Given the description of an element on the screen output the (x, y) to click on. 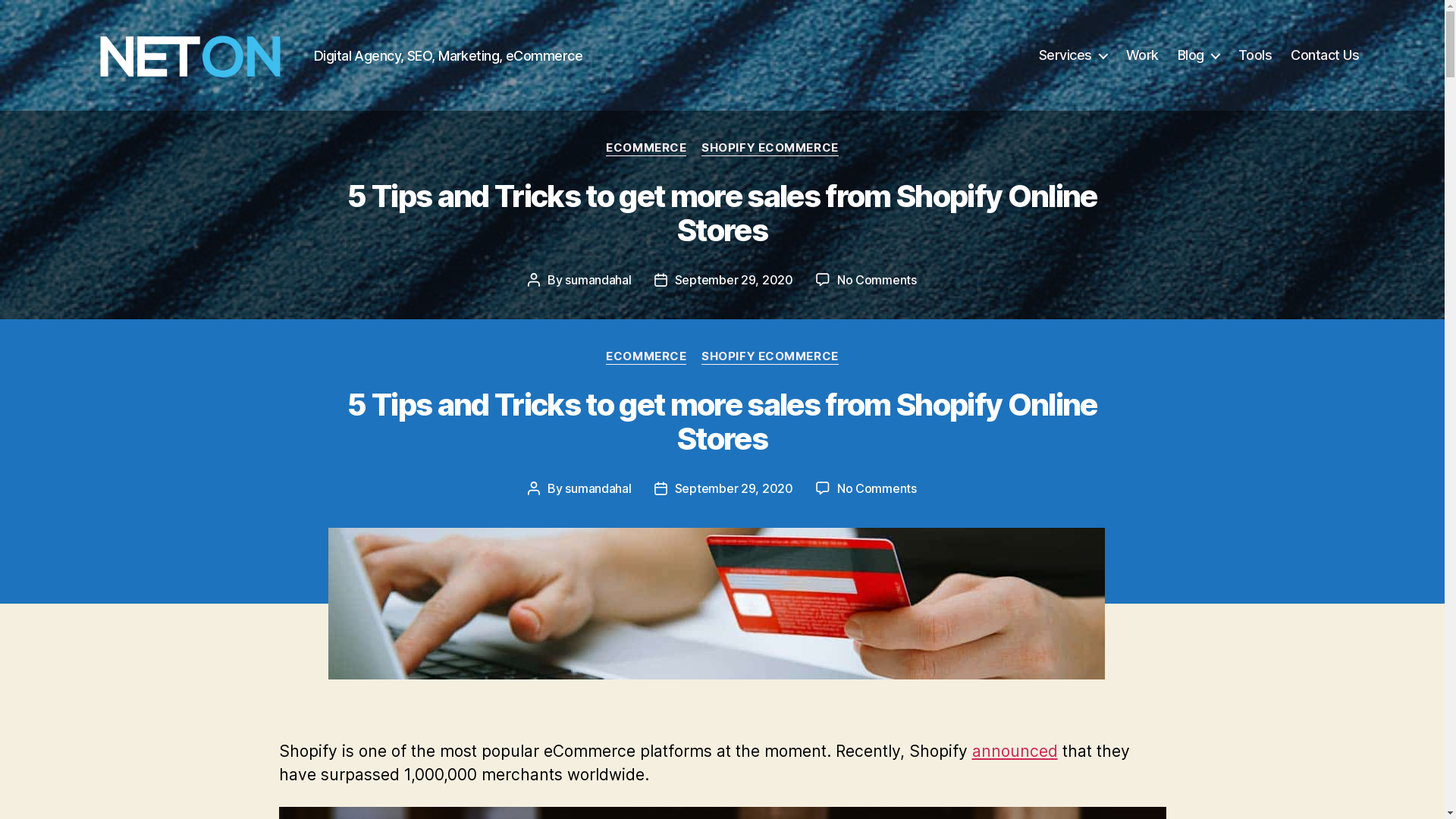
sumandahal Element type: text (597, 487)
sumandahal Element type: text (597, 279)
Tools Element type: text (1255, 55)
Work Element type: text (1142, 55)
September 29, 2020 Element type: text (733, 487)
Blog Element type: text (1198, 55)
announced Element type: text (1014, 750)
Contact Us Element type: text (1324, 55)
September 29, 2020 Element type: text (733, 279)
SHOPIFY ECOMMERCE Element type: text (769, 356)
ECOMMERCE Element type: text (645, 356)
ECOMMERCE Element type: text (645, 148)
SHOPIFY ECOMMERCE Element type: text (769, 148)
Services Element type: text (1072, 55)
